Given the description of an element on the screen output the (x, y) to click on. 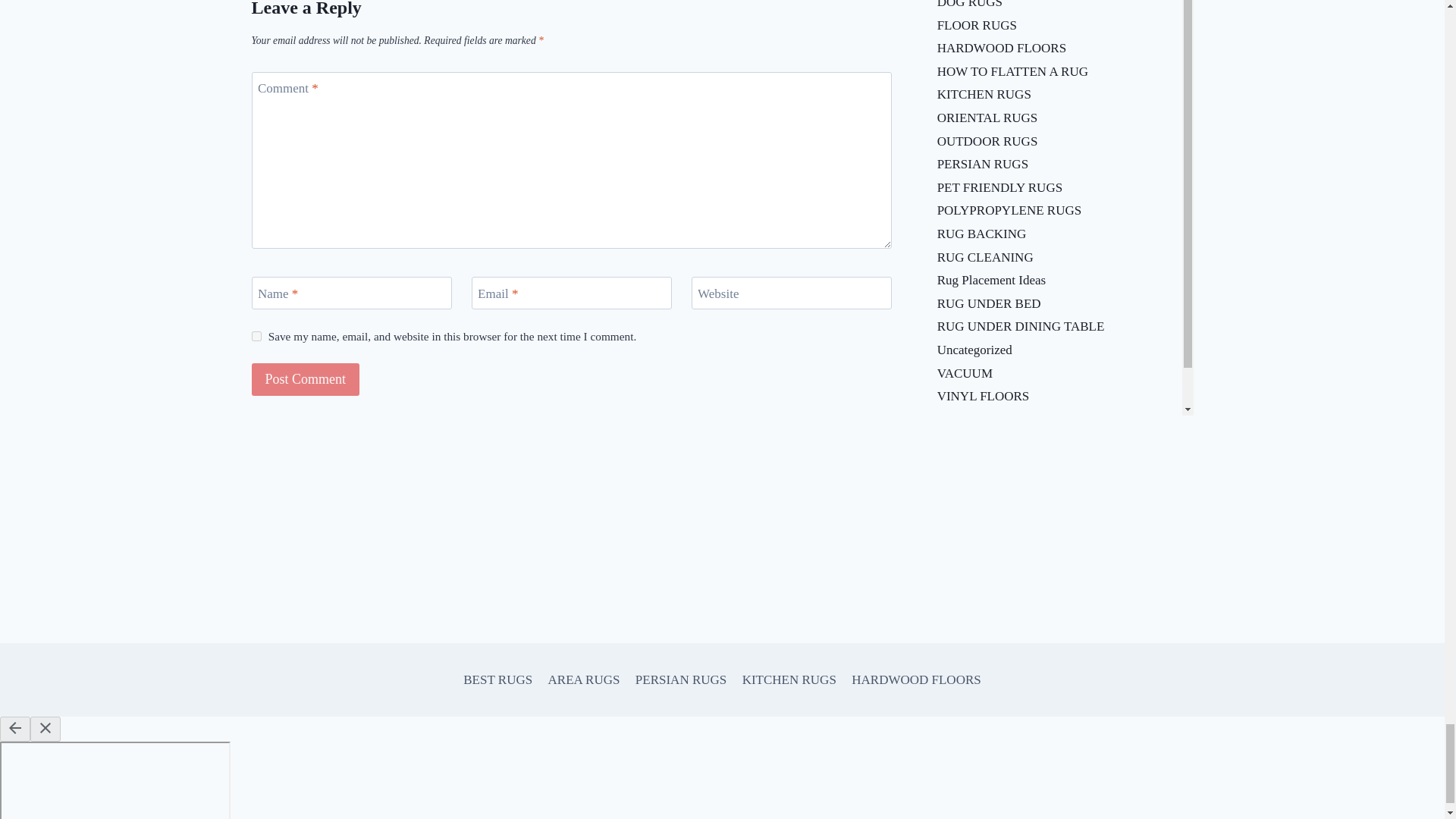
Post Comment (305, 379)
yes (256, 336)
